Given the description of an element on the screen output the (x, y) to click on. 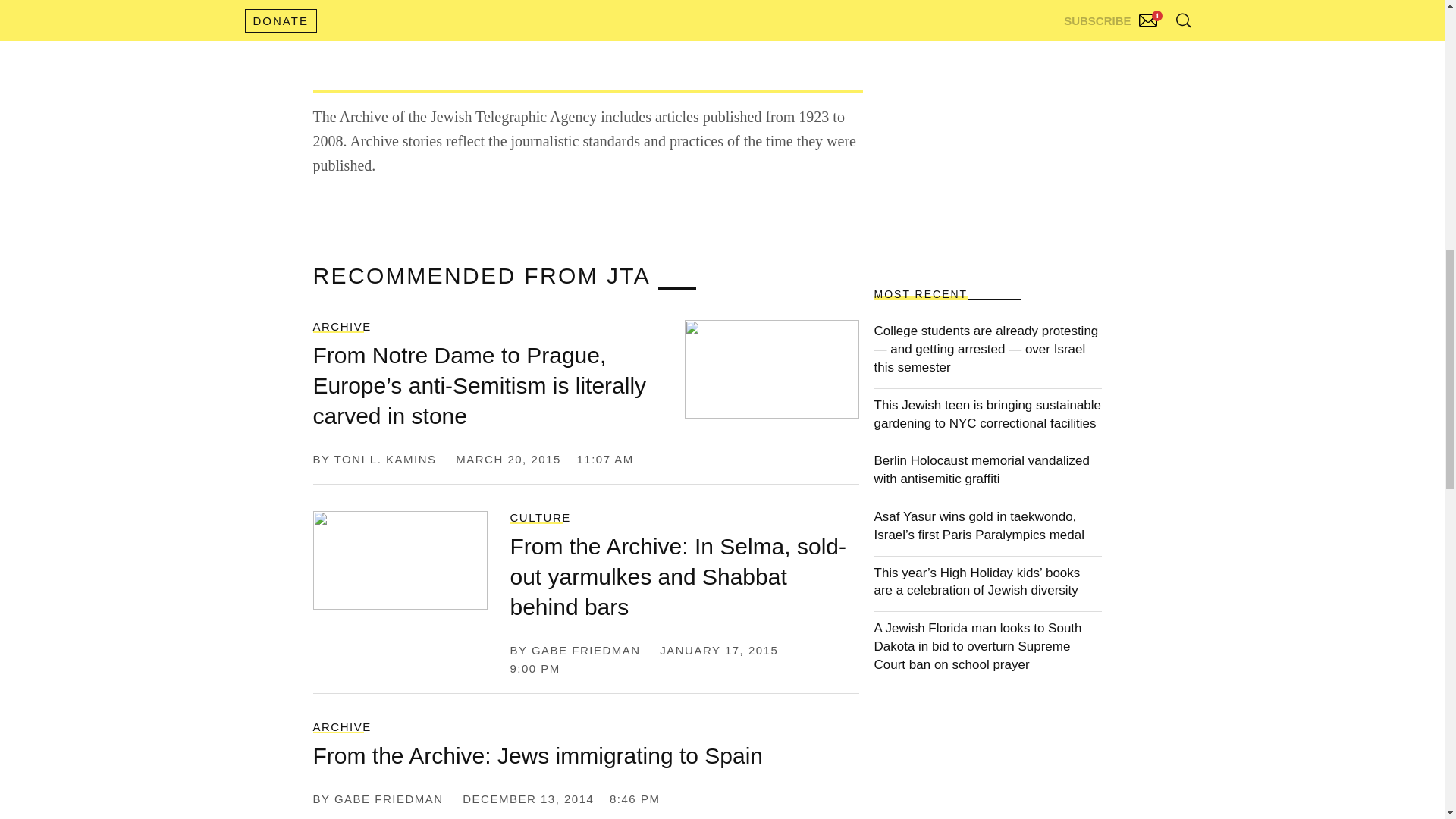
Click to share on Twitter (343, 15)
Click to share on WhatsApp (503, 15)
Click to share on Facebook (419, 15)
Click to email a link to a friend (577, 15)
